Given the description of an element on the screen output the (x, y) to click on. 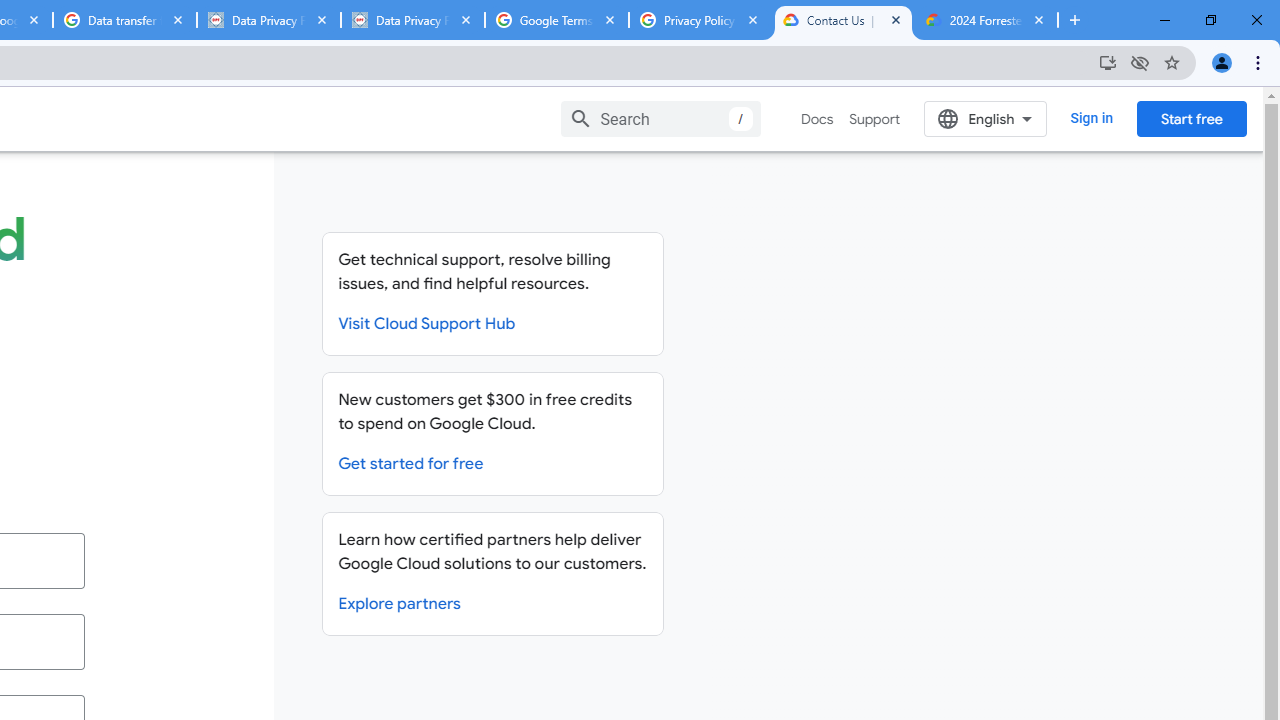
Data Privacy Framework (412, 20)
Install Google Cloud (1107, 62)
